Given the description of an element on the screen output the (x, y) to click on. 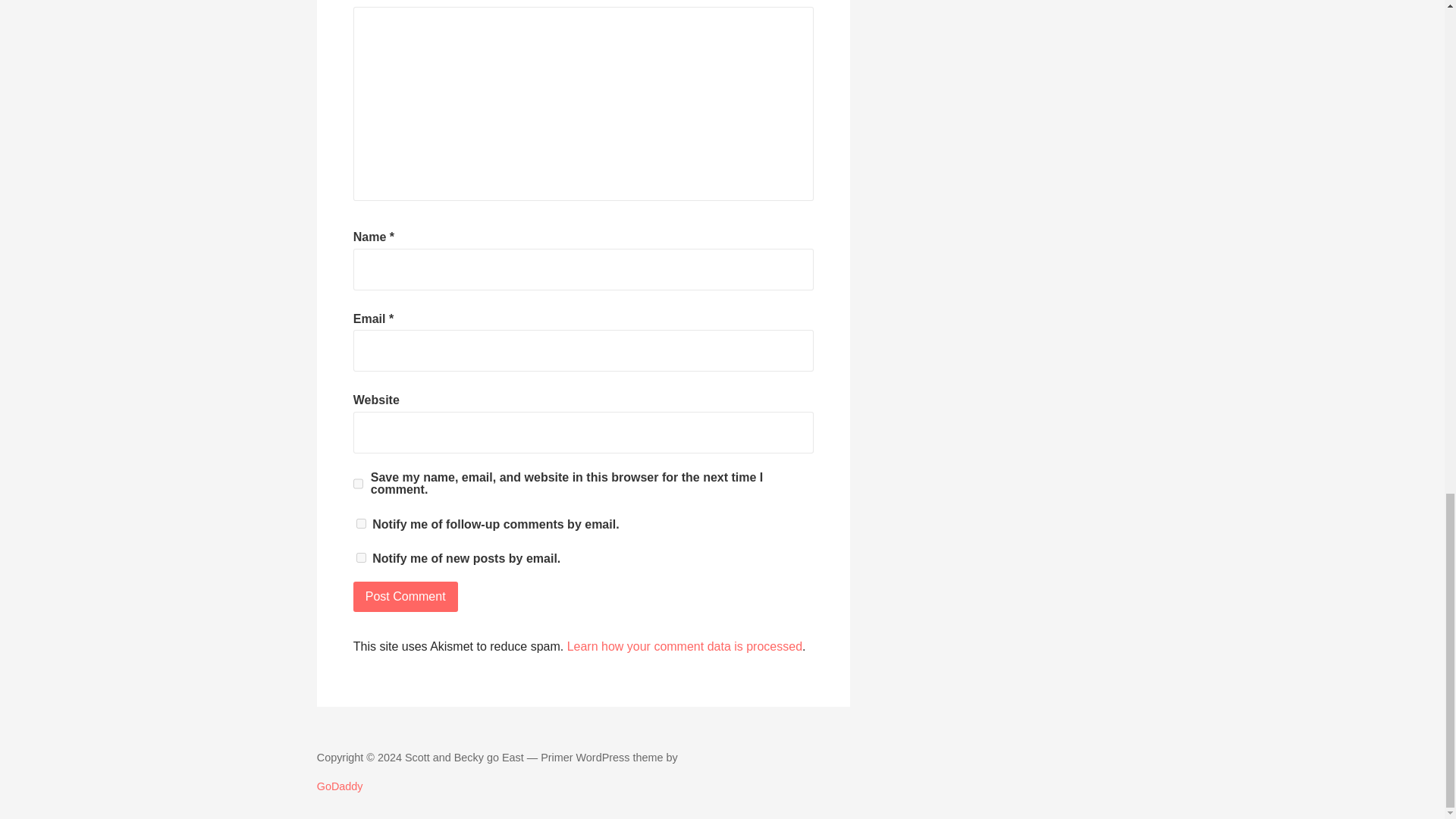
Post Comment (405, 596)
Post Comment (405, 596)
subscribe (361, 557)
Learn how your comment data is processed (684, 645)
GoDaddy (339, 786)
subscribe (361, 523)
